Given the description of an element on the screen output the (x, y) to click on. 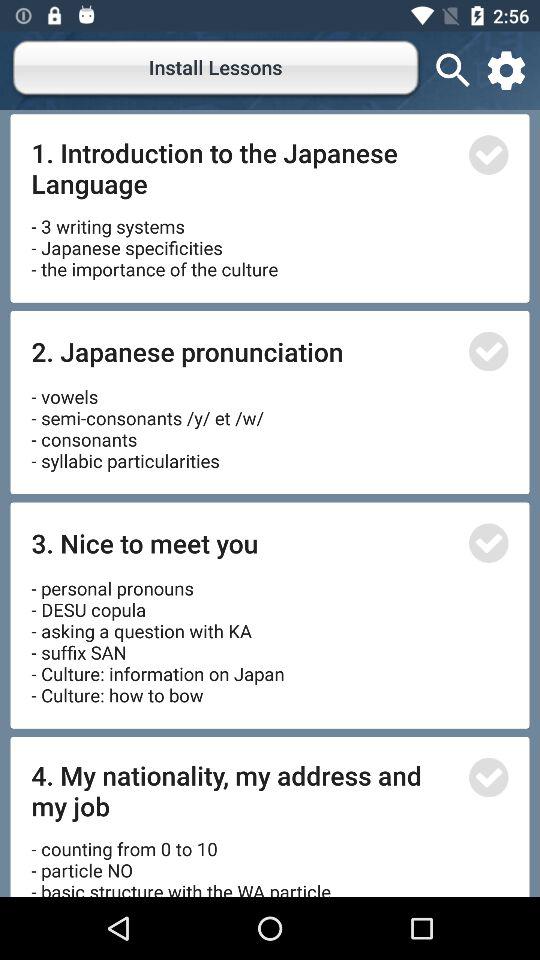
tap the item below the personal pronouns desu (243, 790)
